Given the description of an element on the screen output the (x, y) to click on. 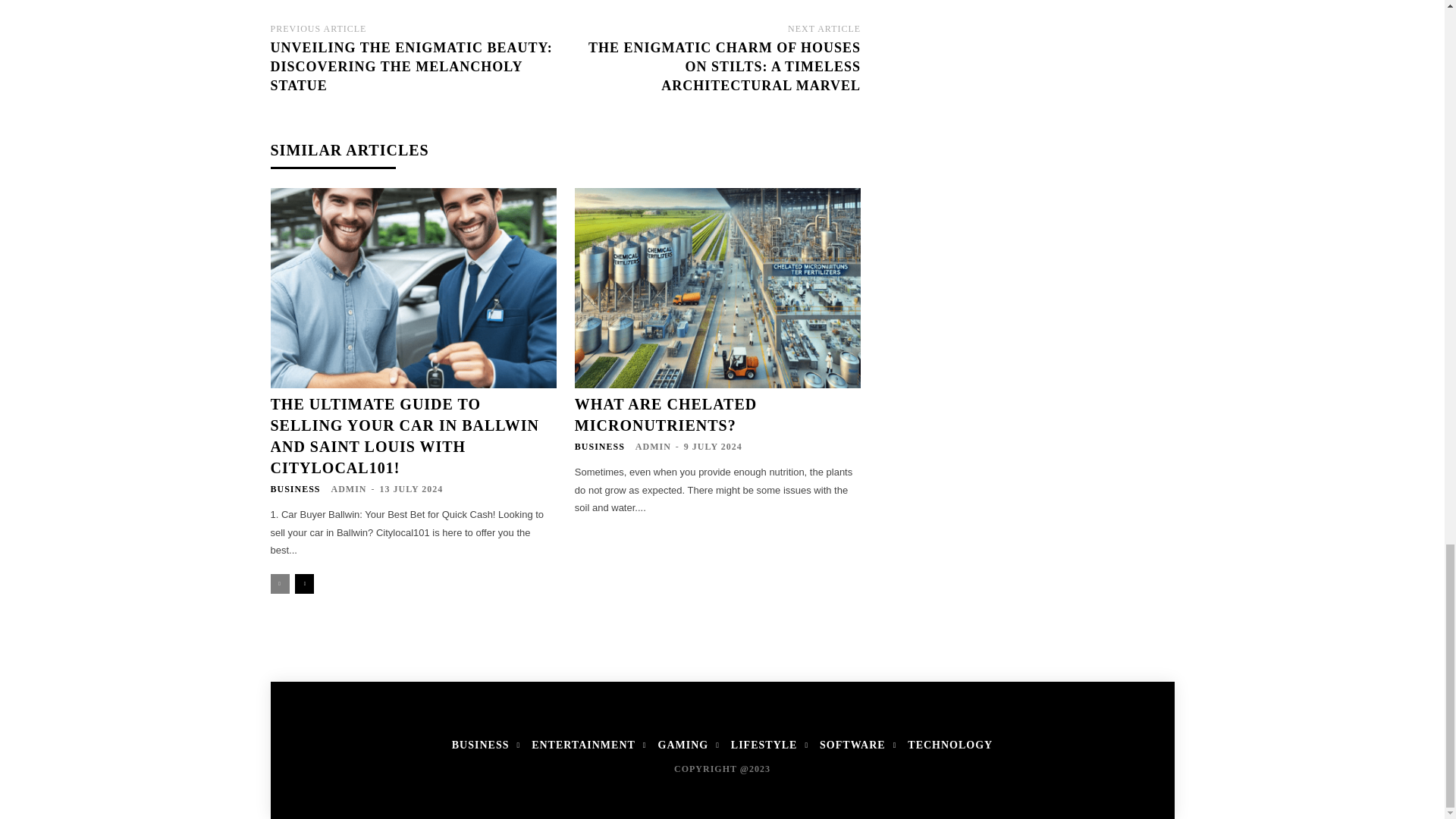
BUSINESS (294, 488)
What Are Chelated Micronutrients? (717, 288)
